Given the description of an element on the screen output the (x, y) to click on. 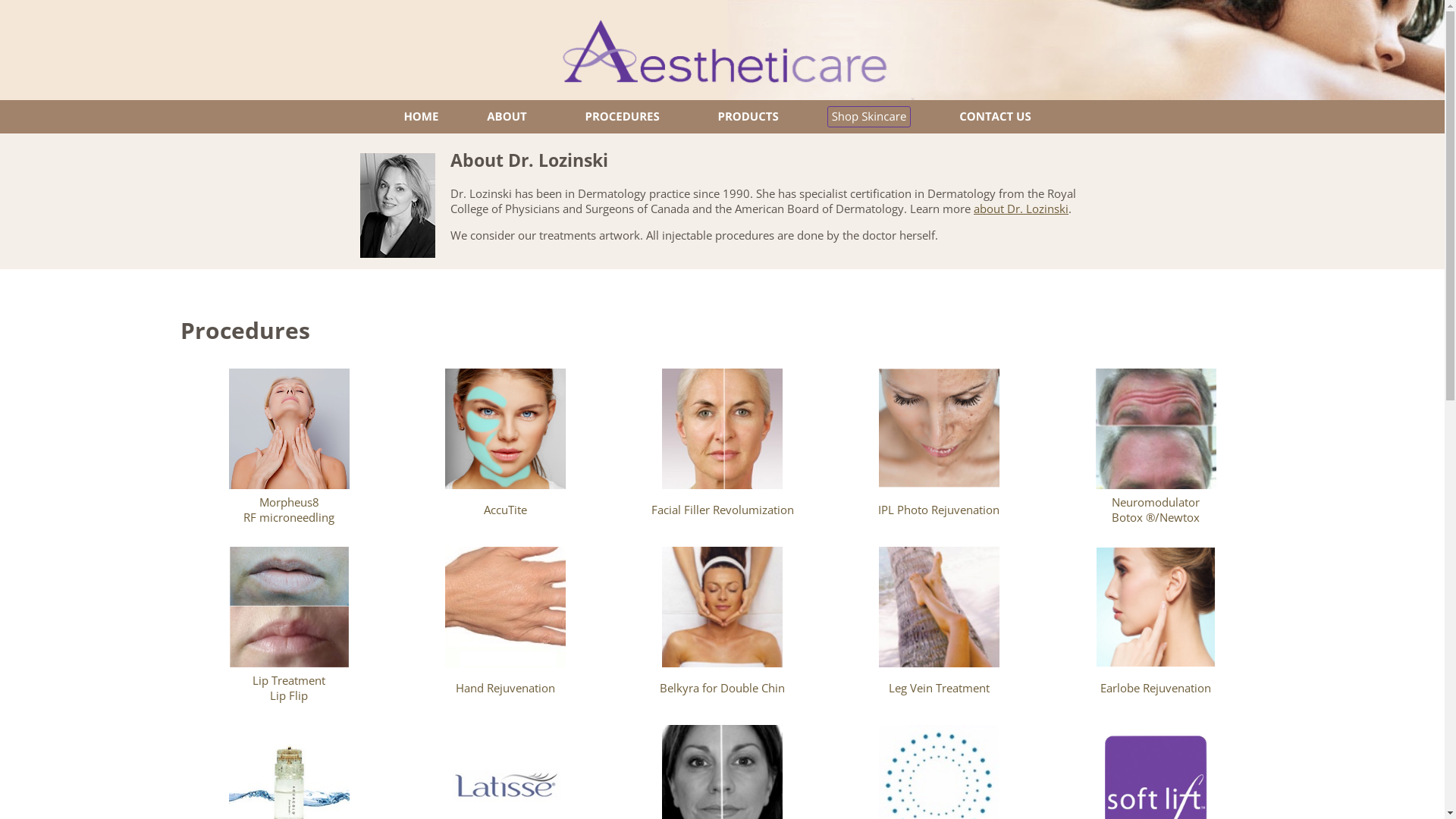
AccuTite Element type: text (505, 449)
Belkyra for Double Chin Element type: text (722, 627)
Hand Rejuvenation Element type: text (505, 627)
Morpheus8
RF microneedling Element type: text (288, 449)
PRODUCTS Element type: text (747, 116)
Leg Vein Treatment Element type: text (938, 627)
Facial Filler Revolumization Element type: text (722, 449)
about Dr. Lozinski Element type: text (1020, 208)
Lip Treatment
Lip Flip Element type: text (288, 627)
Shop Skincare Element type: text (869, 116)
IPL Photo Rejuvenation Element type: text (938, 449)
Earlobe Rejuvenation Element type: text (1155, 627)
HOME Element type: text (420, 116)
